Given the description of an element on the screen output the (x, y) to click on. 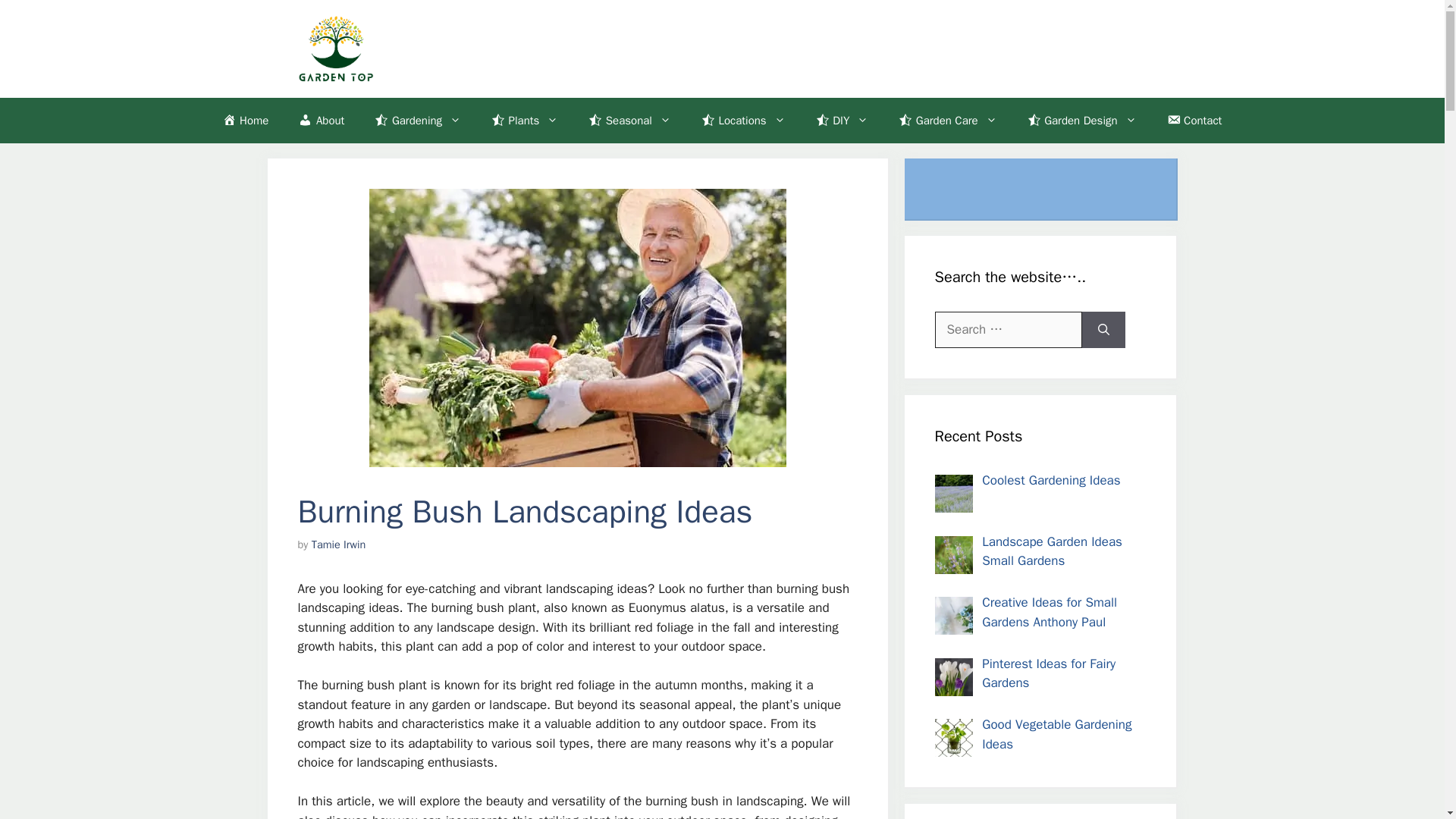
View all posts by Tamie Irwin (338, 544)
Burning Bush Landscaping Ideas 1 (577, 327)
